Given the description of an element on the screen output the (x, y) to click on. 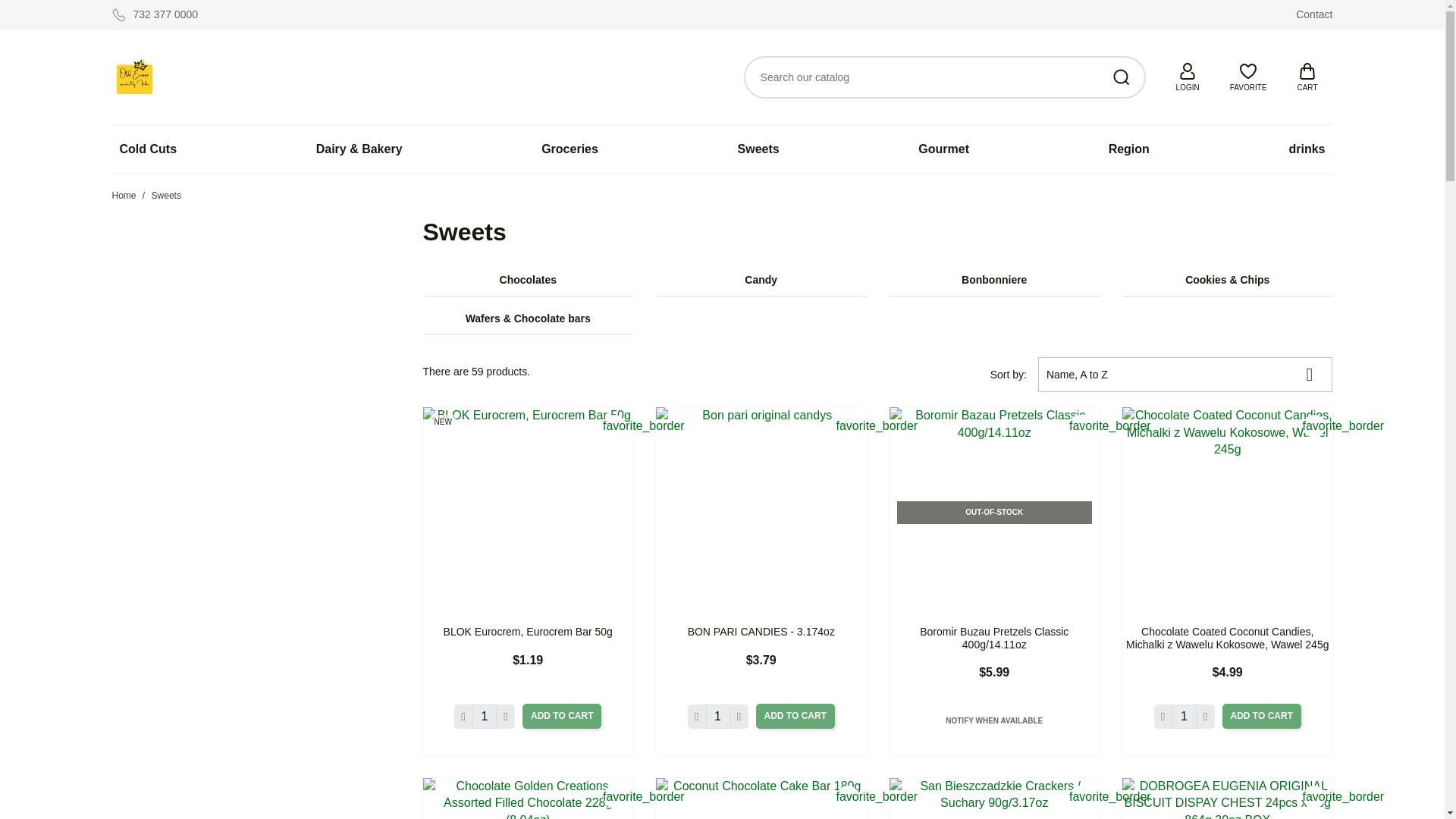
Chocolates (528, 280)
1 (483, 716)
Contact (1313, 14)
1 (1184, 716)
732 377 0000 (155, 14)
1 (718, 716)
Contact (1313, 14)
Groceries (569, 149)
Favorite products (1248, 74)
Bonbonniere (993, 280)
